Given the description of an element on the screen output the (x, y) to click on. 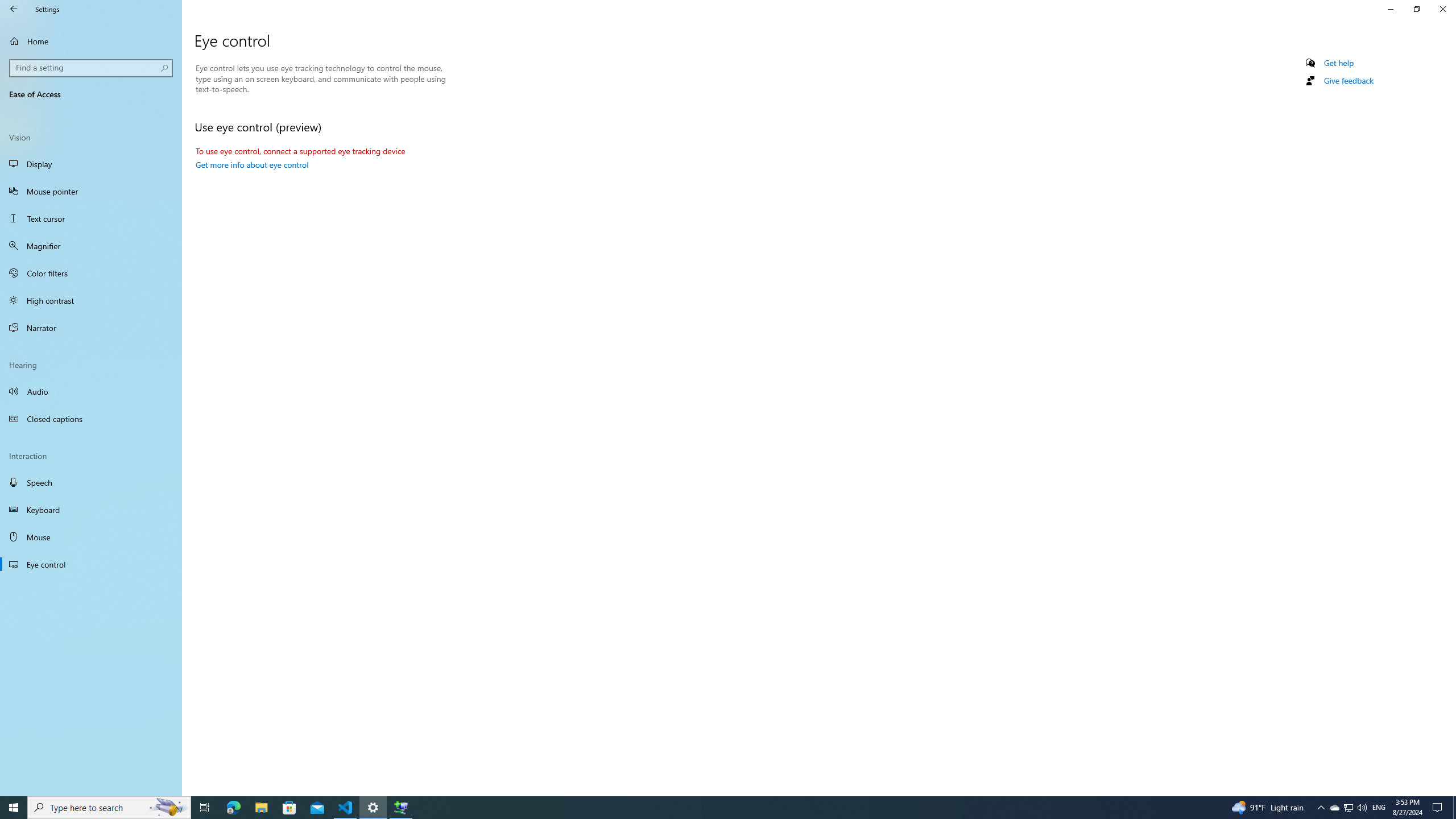
Color filters (91, 272)
Eye control (91, 564)
Display (91, 163)
Magnifier (91, 245)
Close Settings (1442, 9)
High contrast (91, 299)
Search box, Find a setting (91, 67)
Extensible Wizards Host Process - 1 running window (400, 807)
Get help (1338, 62)
